Given the description of an element on the screen output the (x, y) to click on. 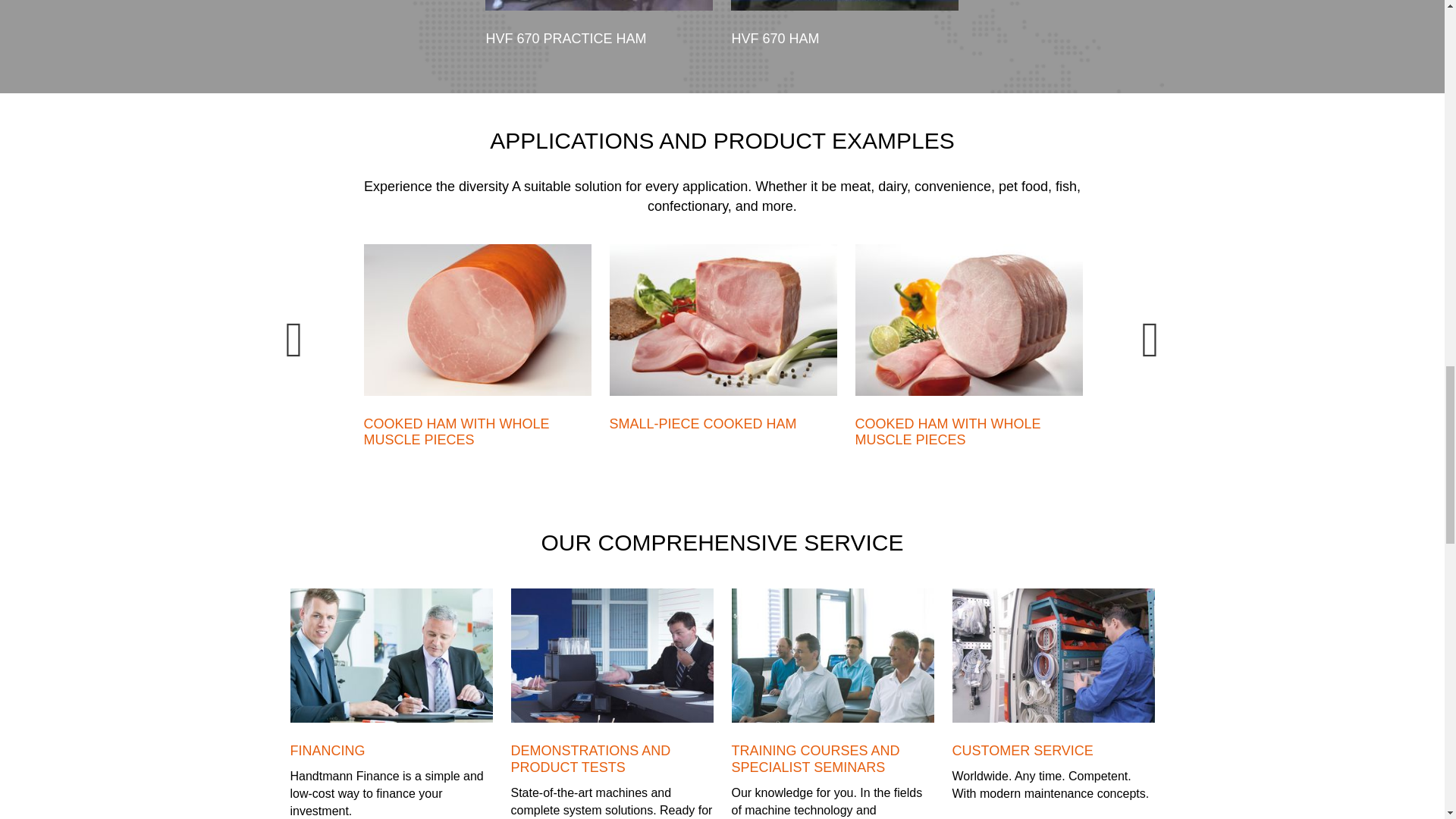
Handtmann-Maschinenfabrik-HVF670-Schinken (844, 5)
Handtmann-Maschinenfabrik-HVF670-Praxis-Schinken (598, 5)
